Given the description of an element on the screen output the (x, y) to click on. 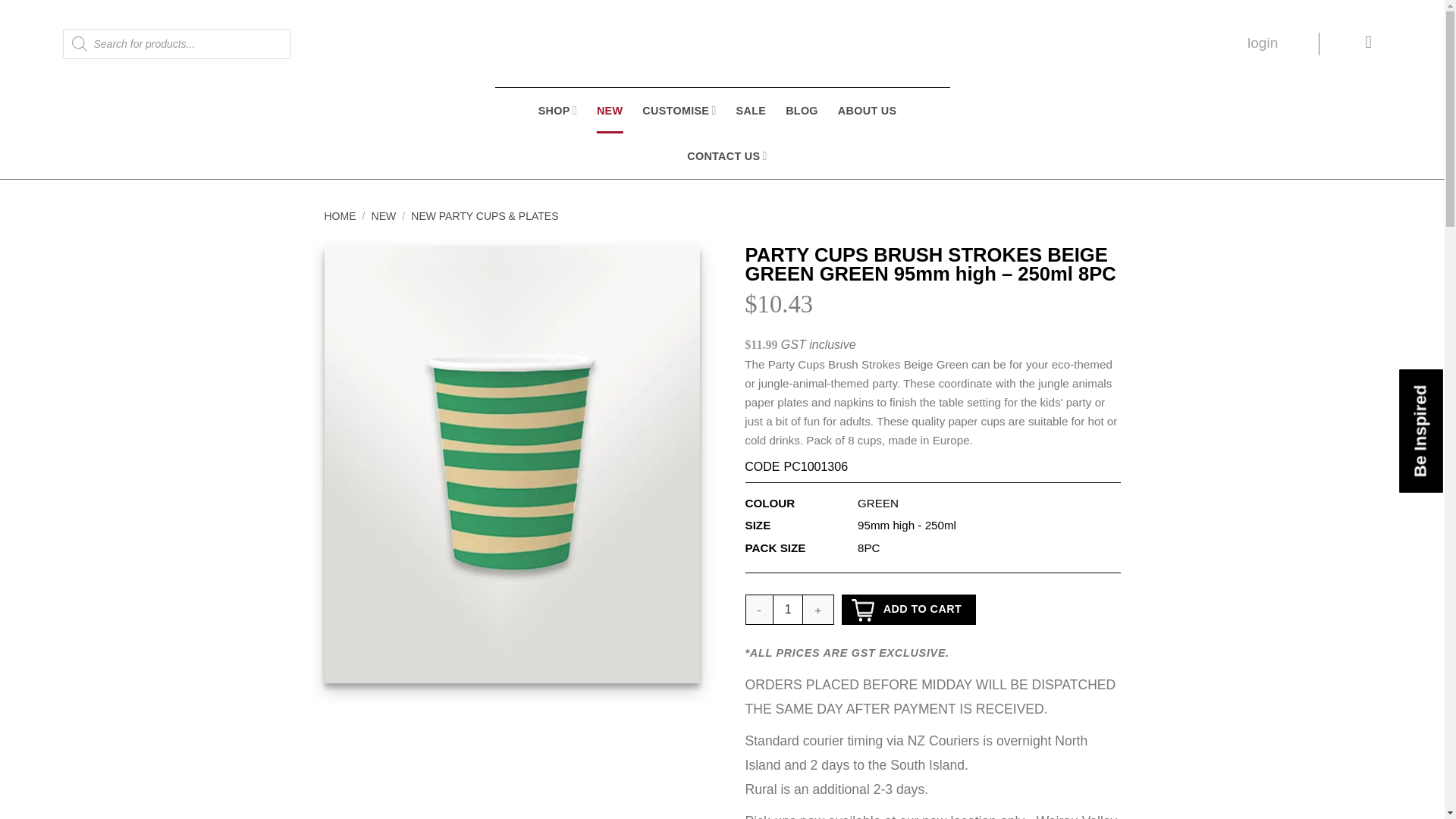
- (758, 609)
CONTACT US (727, 156)
CUSTOMISE (679, 110)
1 (788, 609)
Cart (1368, 43)
ABOUT US (867, 110)
